Given the description of an element on the screen output the (x, y) to click on. 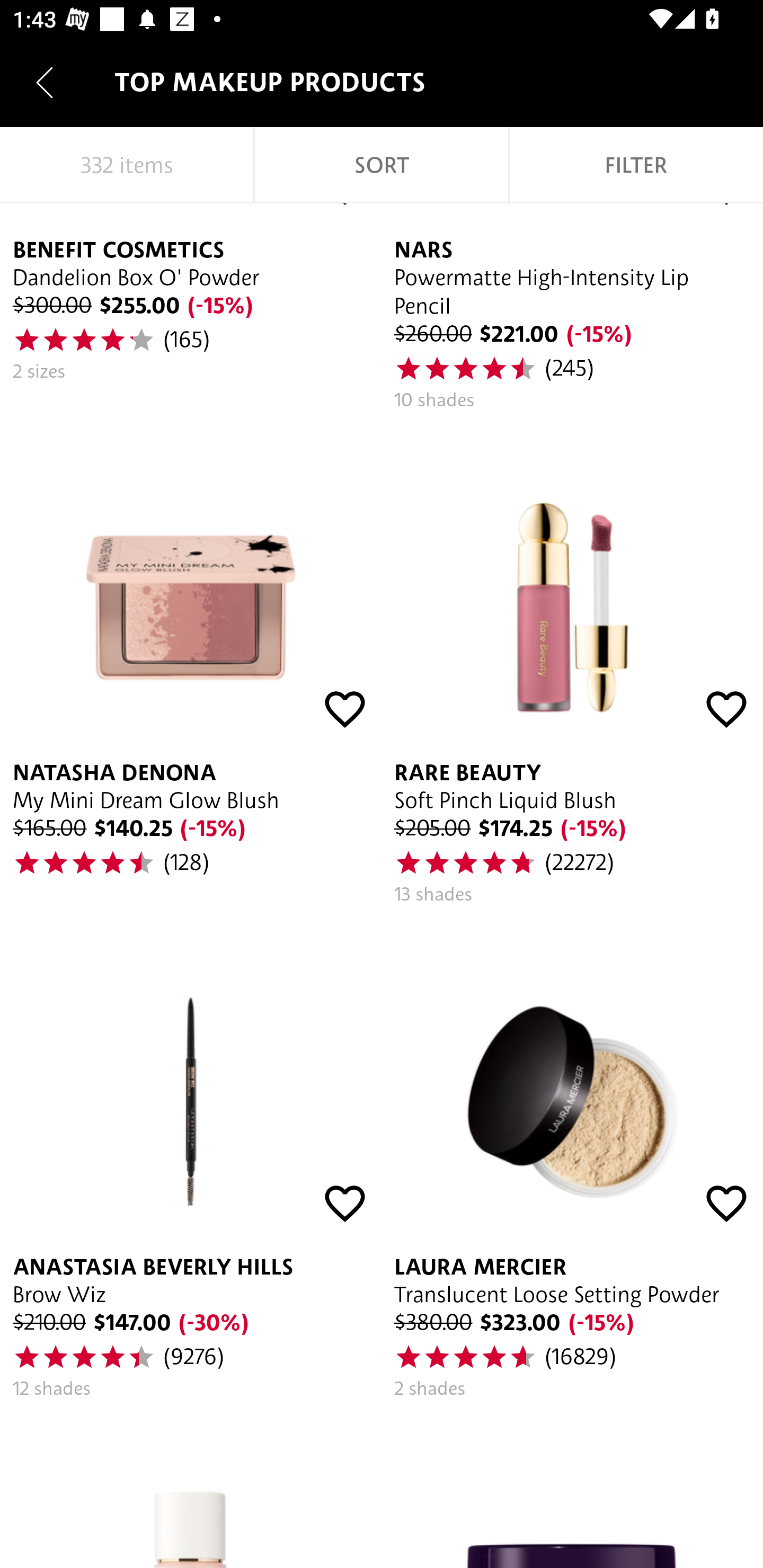
Navigate up (44, 82)
SORT (381, 165)
FILTER (636, 165)
